Given the description of an element on the screen output the (x, y) to click on. 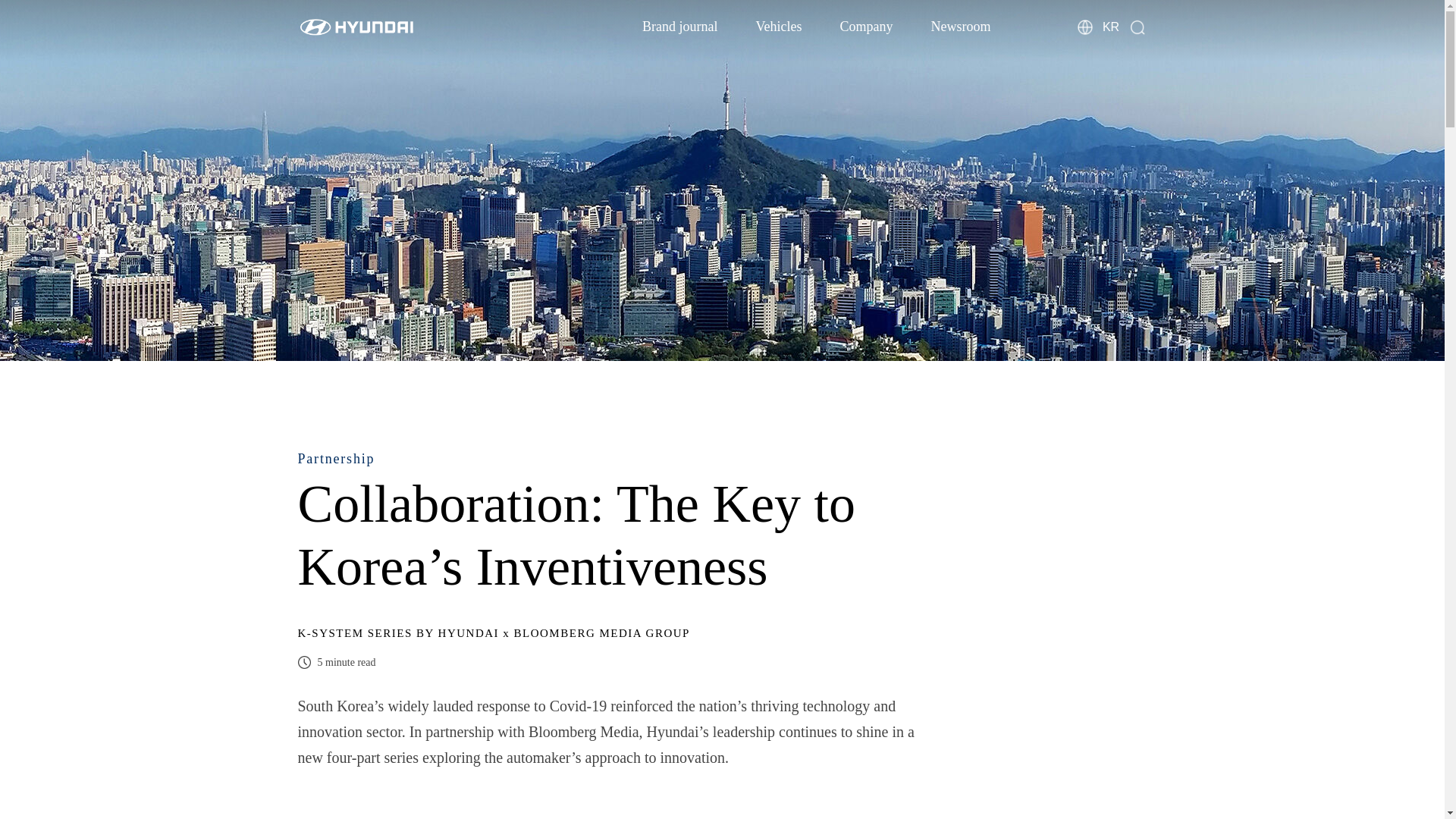
Vehicles (778, 25)
Go to Korean Website (1109, 26)
Company (866, 25)
Brand journal (679, 25)
